Given the description of an element on the screen output the (x, y) to click on. 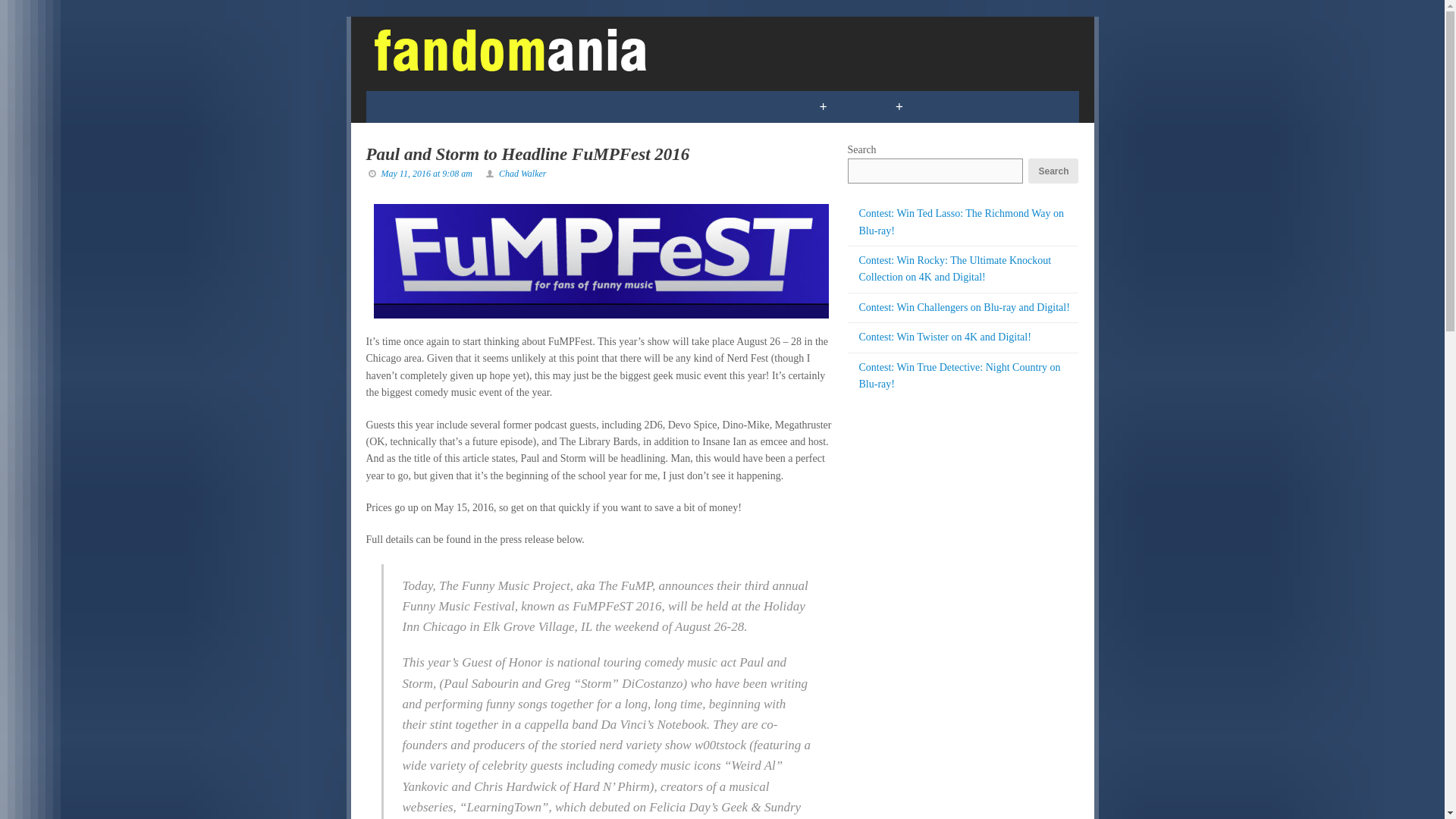
Movies (602, 106)
Paul and Storm to Headline FuMPFest 2016 (526, 153)
TV (539, 106)
Games (478, 106)
May 11, 2016 at 9:08 am (425, 173)
Chad Walker (523, 173)
Contests (757, 106)
About (1015, 106)
Search (1052, 170)
Posts by Chad Walker (523, 173)
